Given the description of an element on the screen output the (x, y) to click on. 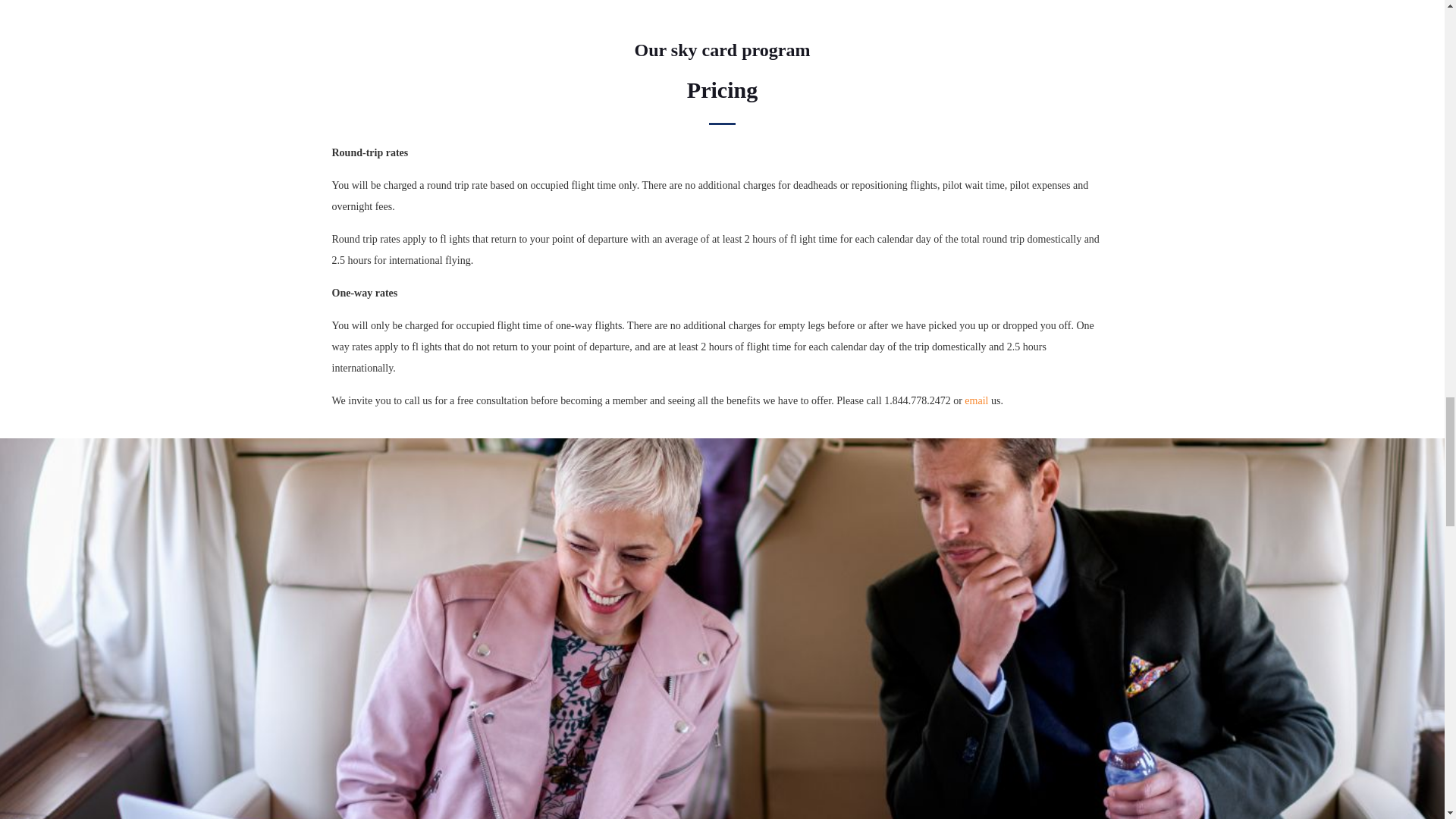
email (975, 400)
